Given the description of an element on the screen output the (x, y) to click on. 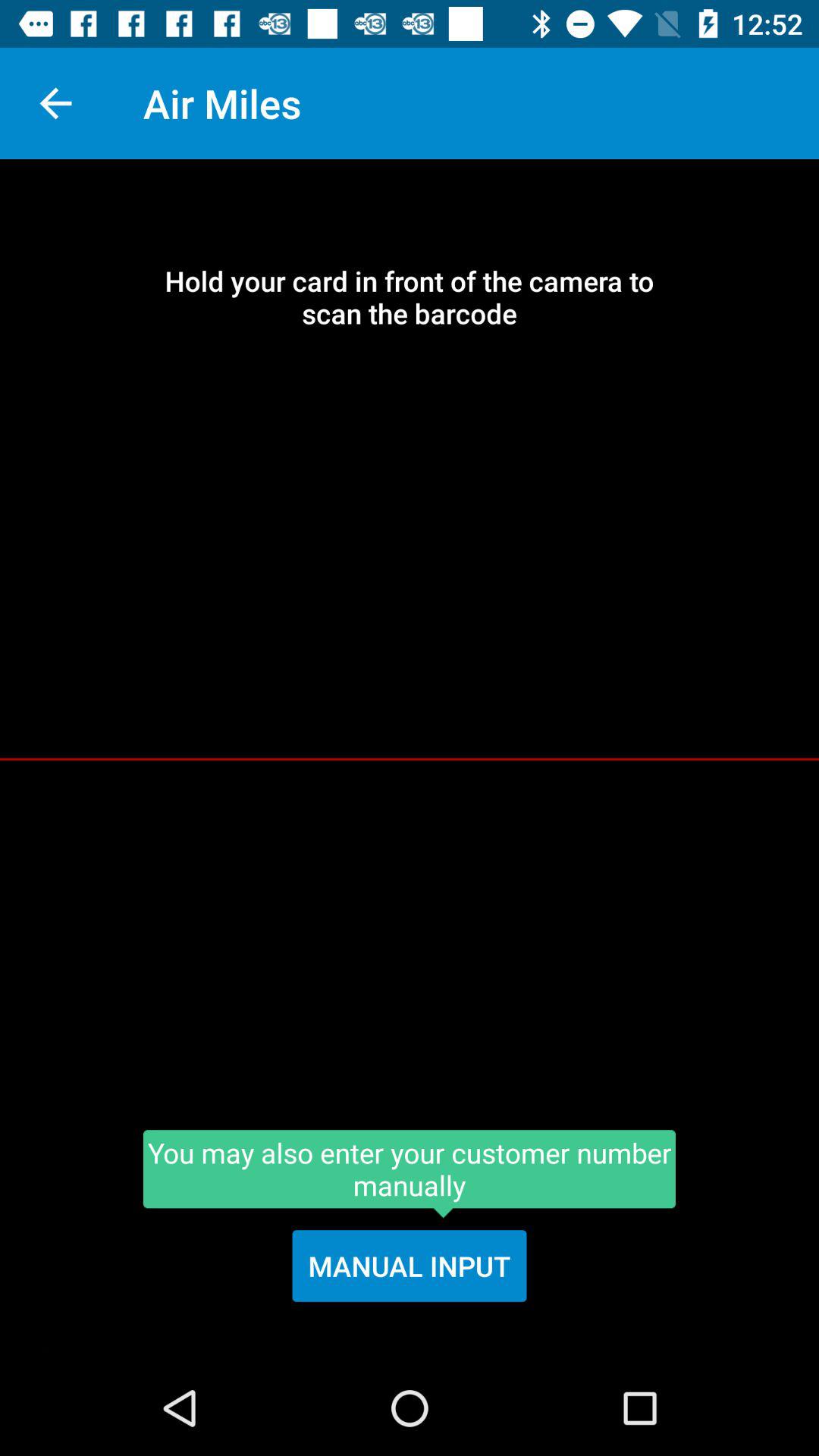
press the manual input icon (409, 1265)
